Given the description of an element on the screen output the (x, y) to click on. 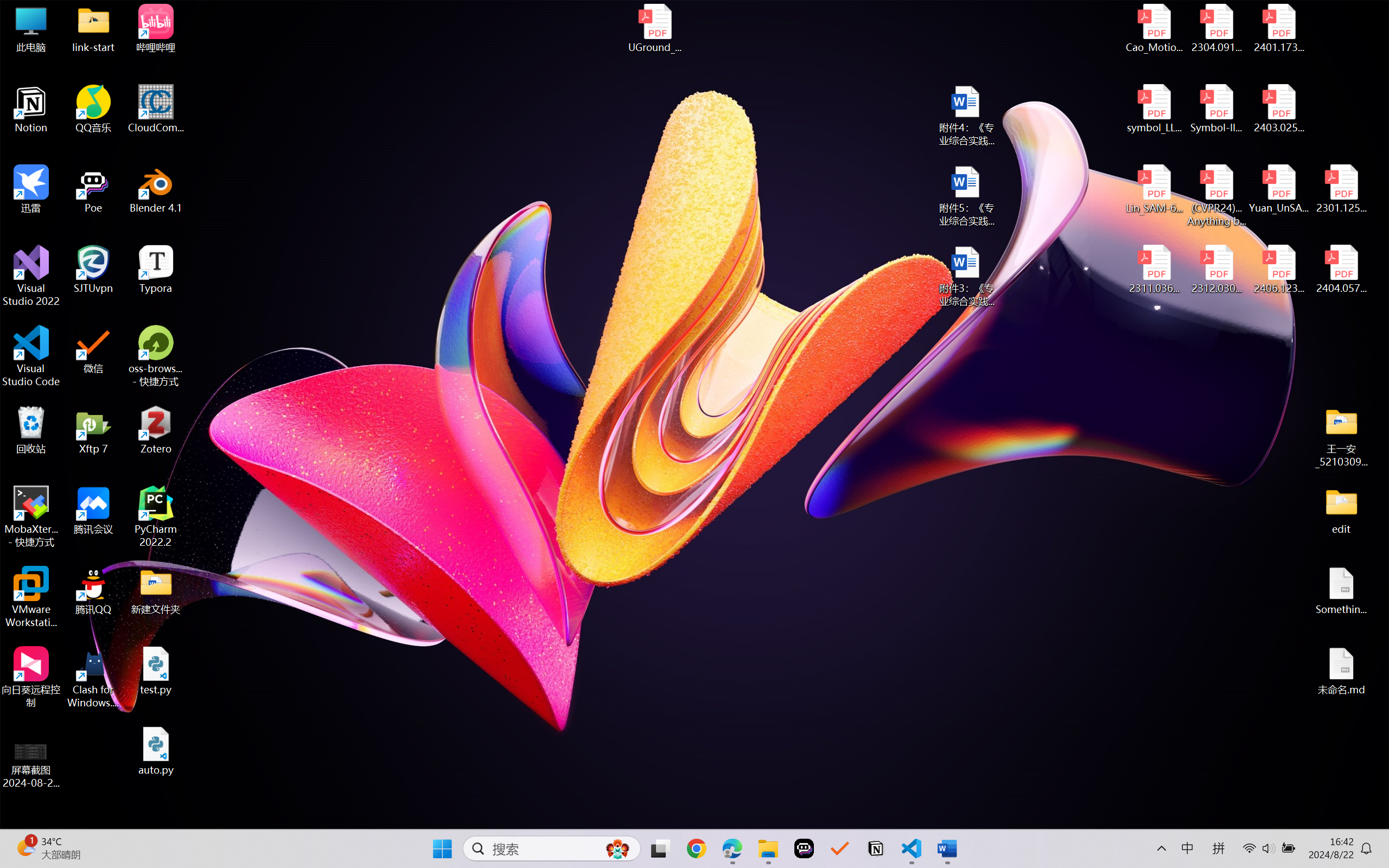
UGround_paper.pdf (654, 28)
2404.05719v1.pdf (1340, 269)
2403.02502v1.pdf (1278, 109)
Google Chrome (696, 848)
test.py (156, 670)
edit (1340, 510)
2312.03032v2.pdf (1216, 269)
